Given the description of an element on the screen output the (x, y) to click on. 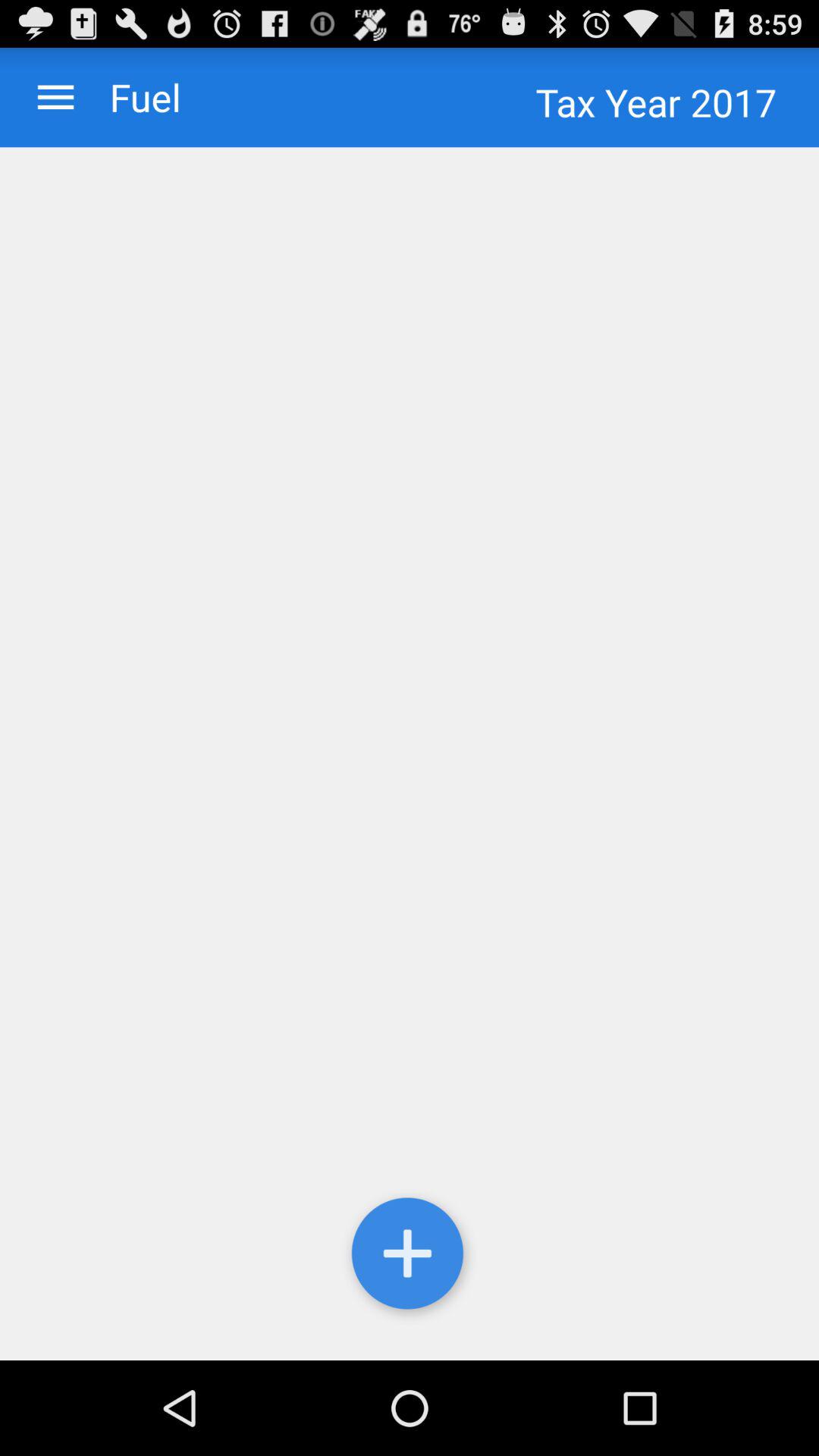
open side men (55, 97)
